Given the description of an element on the screen output the (x, y) to click on. 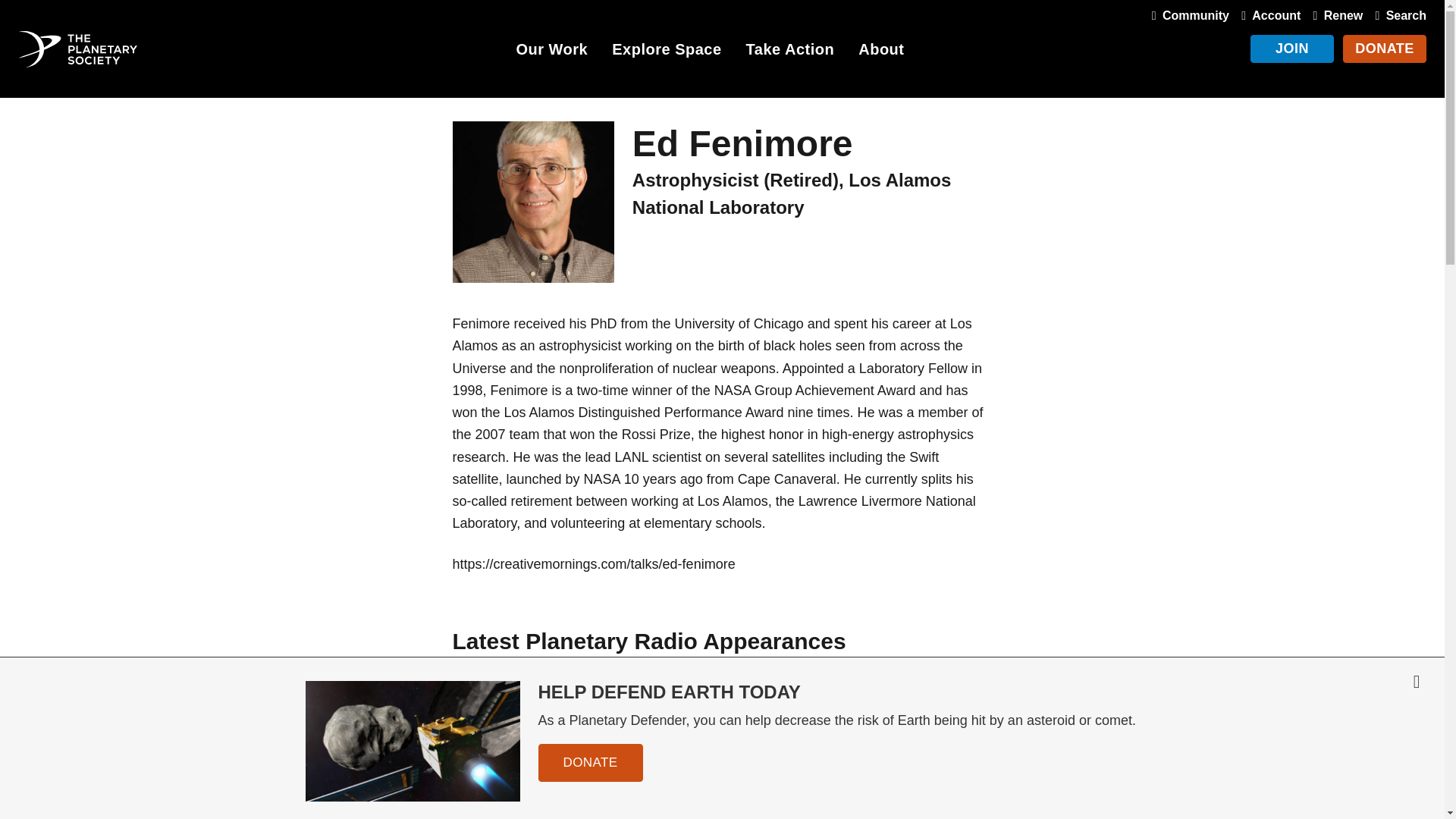
About (881, 51)
Account (1267, 15)
Community (1186, 15)
Explore Space (665, 51)
Take Action (789, 51)
Our Work (551, 51)
DONATE (1384, 49)
Renew (1334, 15)
JOIN (1291, 49)
Search (1397, 15)
